Given the description of an element on the screen output the (x, y) to click on. 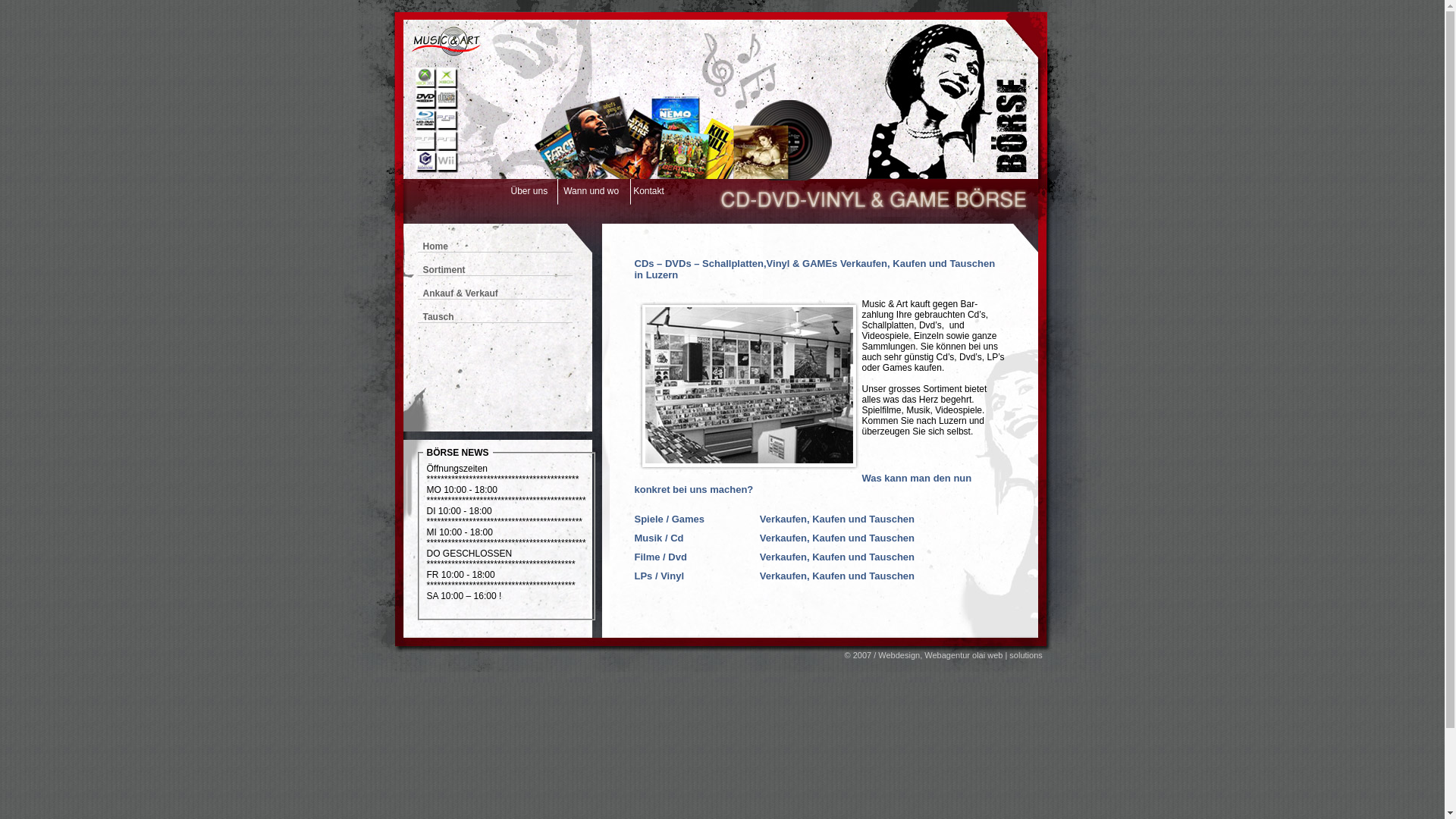
Wann und wo Element type: text (590, 190)
Sortiment Element type: text (444, 269)
Tausch Element type: text (438, 316)
Kontakt Element type: text (648, 190)
Home Element type: text (435, 246)
Ankauf & Verkauf Element type: text (460, 293)
